Given the description of an element on the screen output the (x, y) to click on. 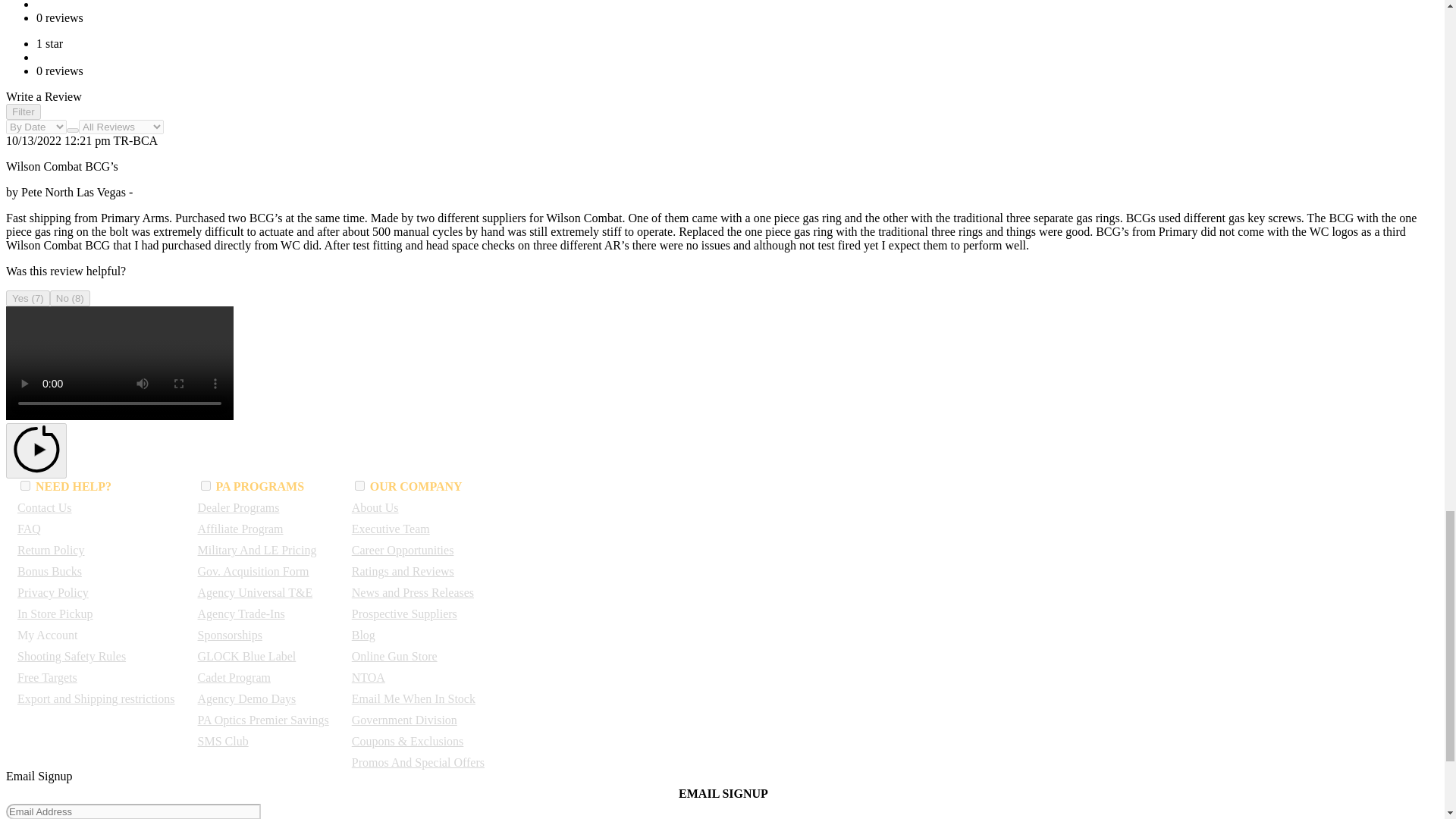
FAQ (28, 528)
on (360, 485)
Contact Us (44, 507)
Replay (35, 450)
on (25, 485)
on (205, 485)
Filter (22, 111)
